Given the description of an element on the screen output the (x, y) to click on. 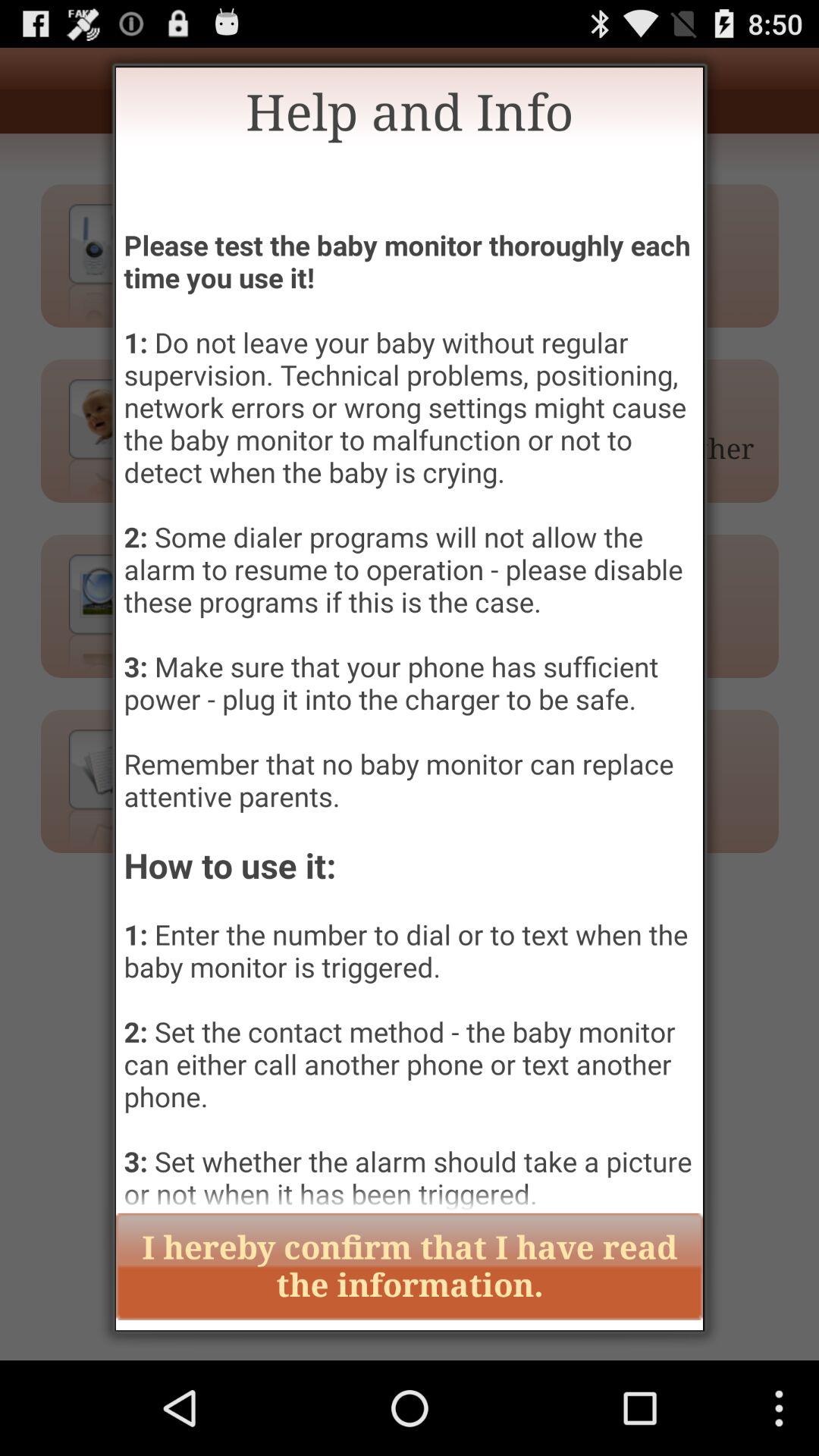
launch the icon below the please test the (409, 1266)
